Given the description of an element on the screen output the (x, y) to click on. 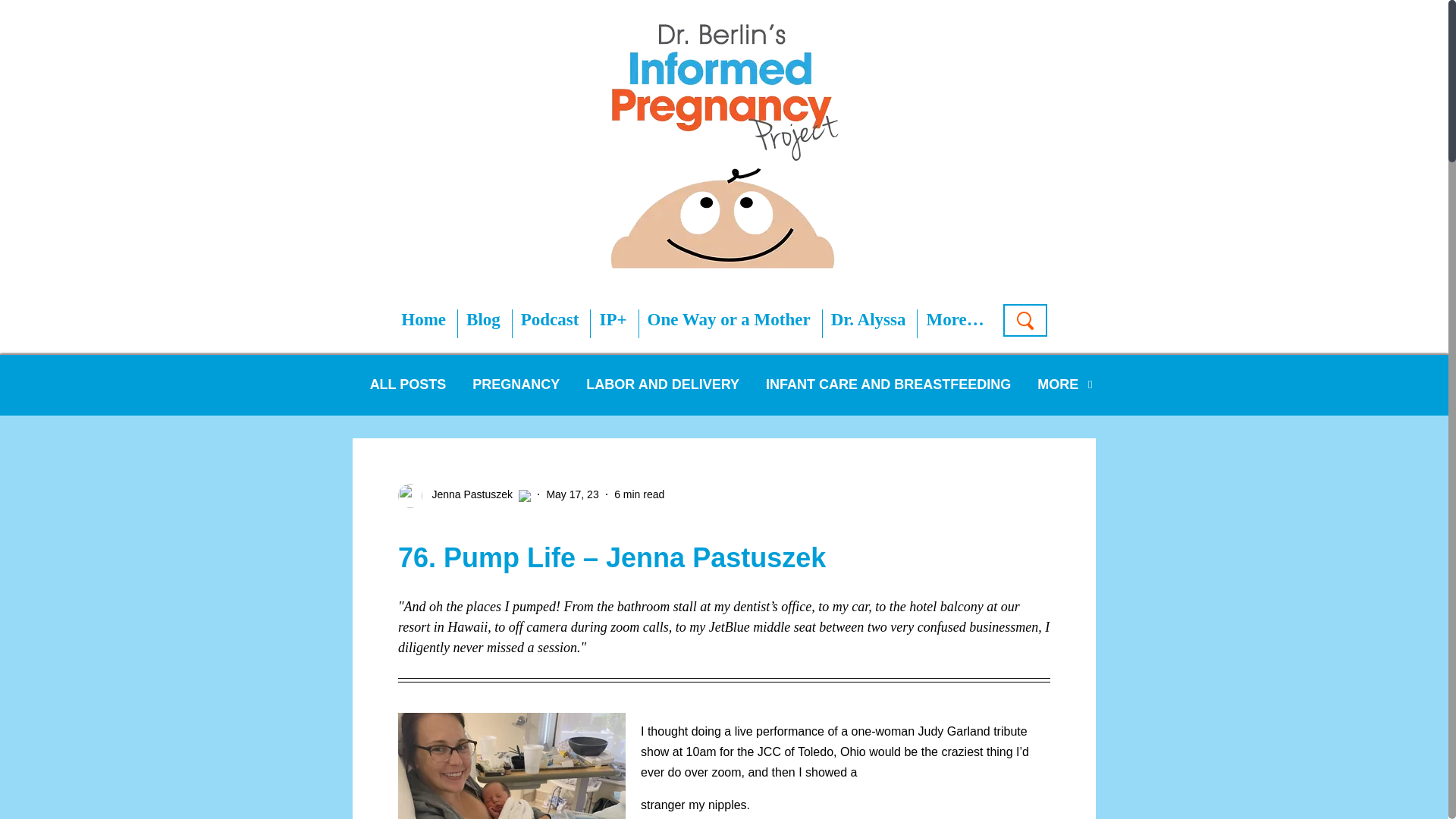
ALL POSTS (407, 396)
Podcast (550, 319)
MORE (1057, 396)
LABOR AND DELIVERY (662, 396)
One Way or a Mother (728, 319)
Productions (1055, 350)
Blog (482, 319)
PREGNANCY (515, 396)
INFANT CARE AND BREASTFEEDING (887, 396)
Dr. Alyssa (868, 319)
